Given the description of an element on the screen output the (x, y) to click on. 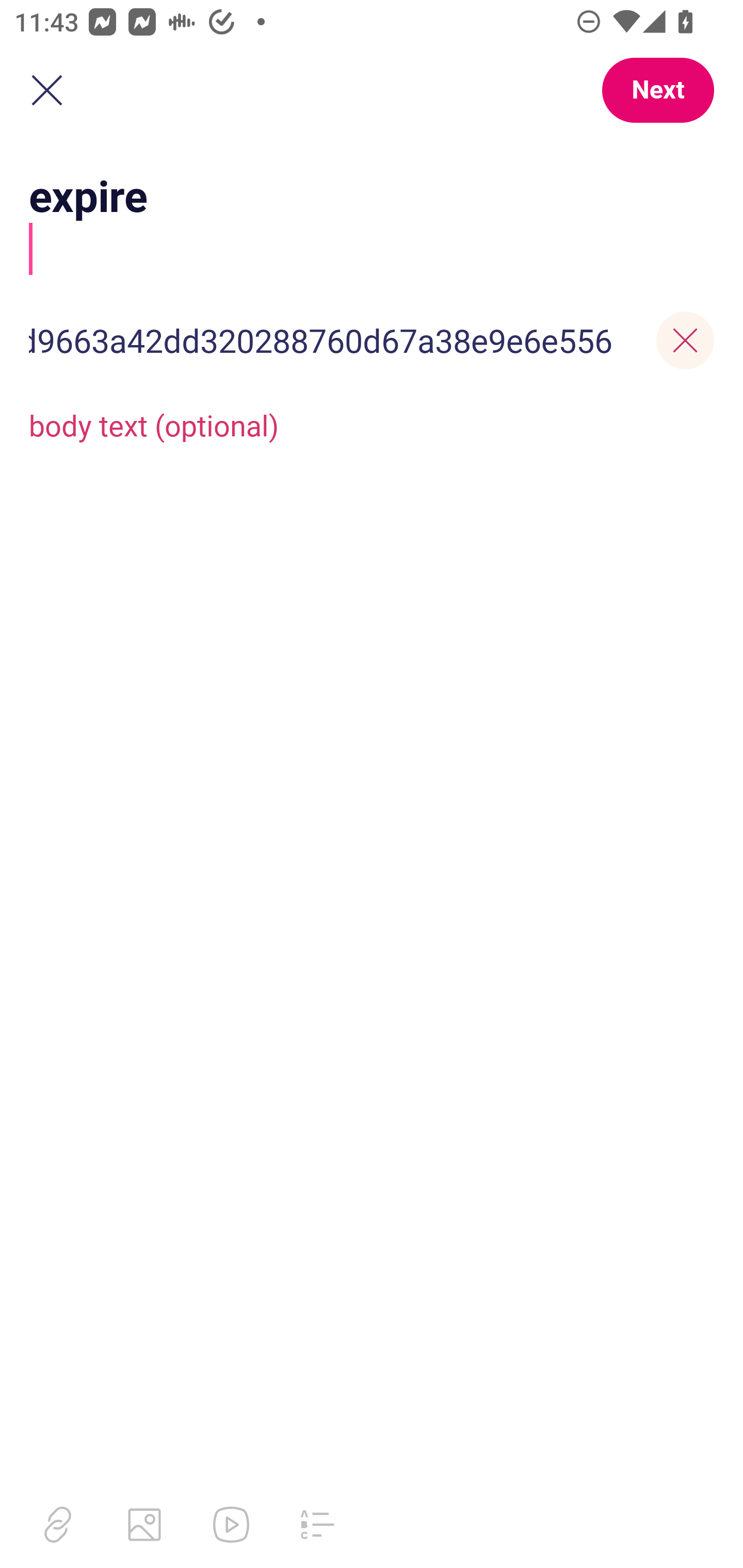
Close (46, 90)
Next (657, 90)
expire
 Post title (371, 220)
Remove link (685, 341)
body text (optional) (371, 424)
